Given the description of an element on the screen output the (x, y) to click on. 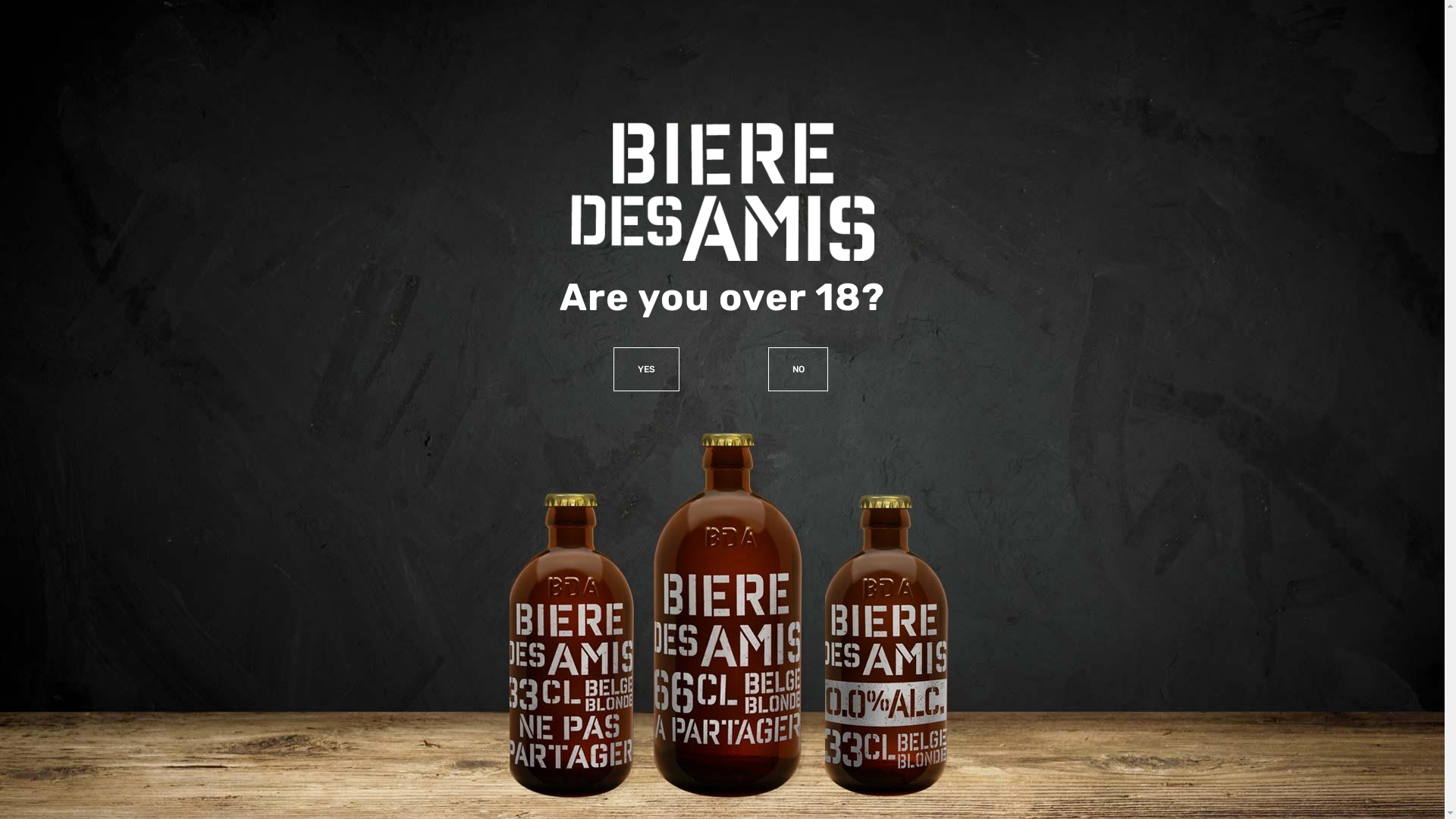
EN Element type: hover (1411, 63)
ESPACE PRO Element type: text (1275, 22)
HOME Element type: text (938, 64)
NO Element type: text (798, 369)
ABOUT Element type: text (1000, 64)
BDA Element type: text (1193, 64)
BDA 0.0% Element type: text (1259, 64)
WHERE TO FIND US Element type: text (1101, 64)
YES Element type: text (645, 369)
CONTACT Element type: text (1340, 64)
WEBSHOP Element type: text (1346, 22)
CONTACT US Element type: text (761, 556)
Ok Element type: text (1107, 801)
EN Element type: text (1408, 64)
